Given the description of an element on the screen output the (x, y) to click on. 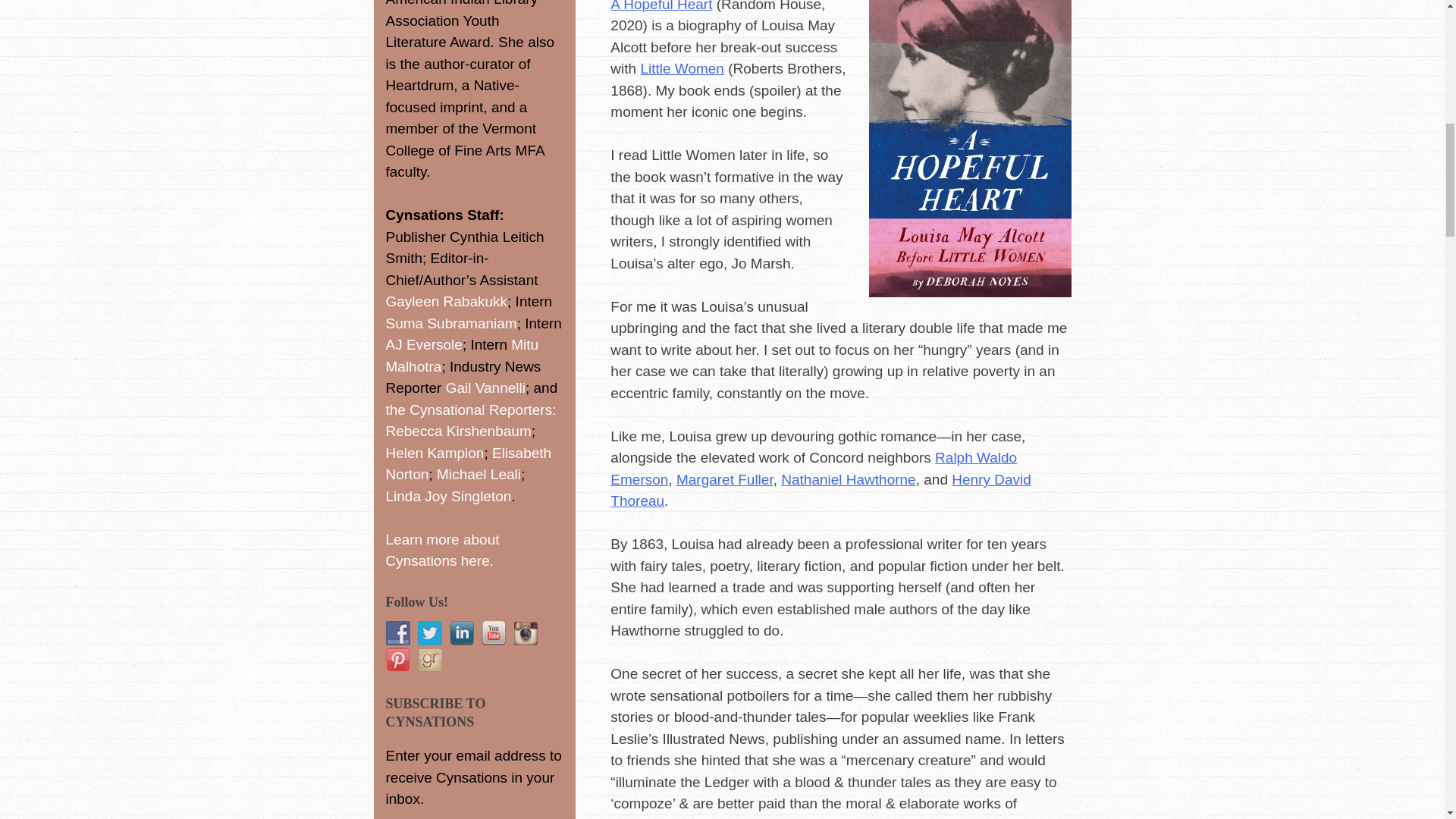
Henry David Thoreau (820, 490)
Little Women (681, 68)
Follow Us on Goodreads (428, 659)
Follow Us on Twitter (428, 632)
Follow Us on YouTube (492, 632)
Follow Us on Instagram (524, 632)
Follow Us on LinkedIn (460, 632)
A Hopeful Heart (660, 6)
Ralph Waldo Emerson (813, 468)
Margaret Fuller (725, 479)
Follow Us on Pinterest (397, 659)
Nathaniel Hawthorne (847, 479)
Follow Us on Facebook (397, 632)
